Given the description of an element on the screen output the (x, y) to click on. 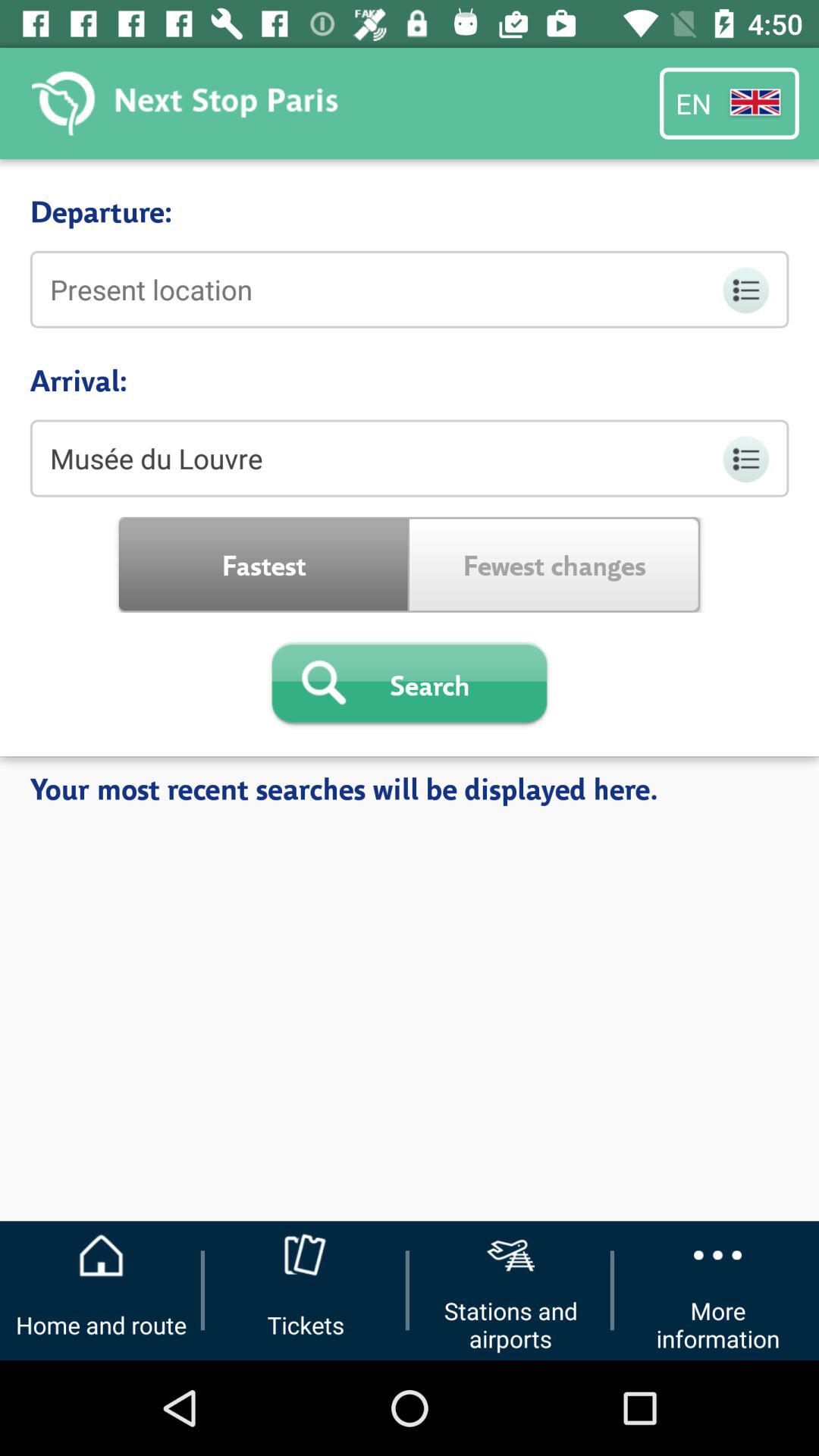
open the icon below the departure: item (409, 289)
